Given the description of an element on the screen output the (x, y) to click on. 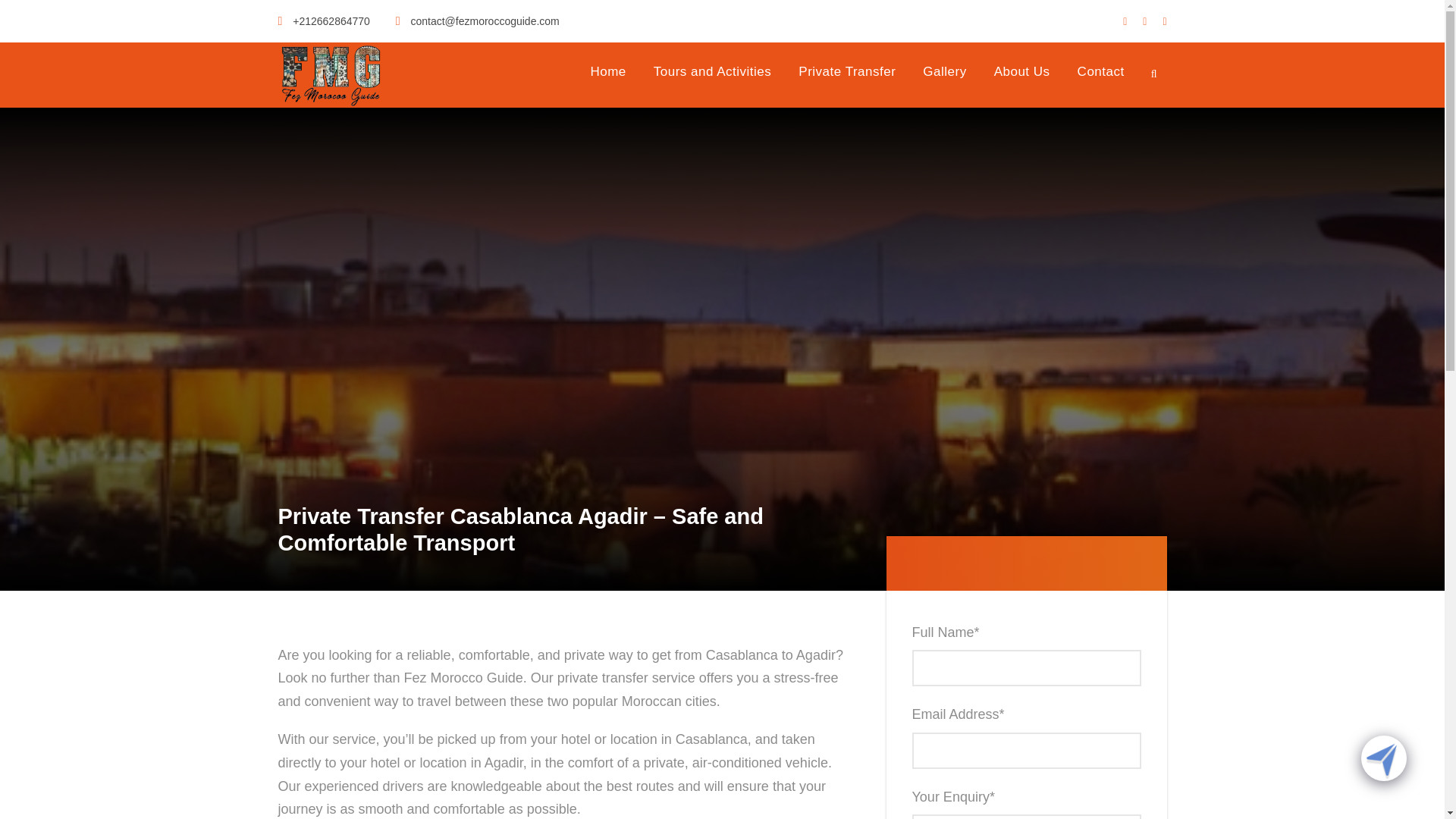
Tours and Activities (712, 78)
Logo Fez Morocco Guide (331, 74)
Private Transfer (846, 78)
Home (607, 78)
